Given the description of an element on the screen output the (x, y) to click on. 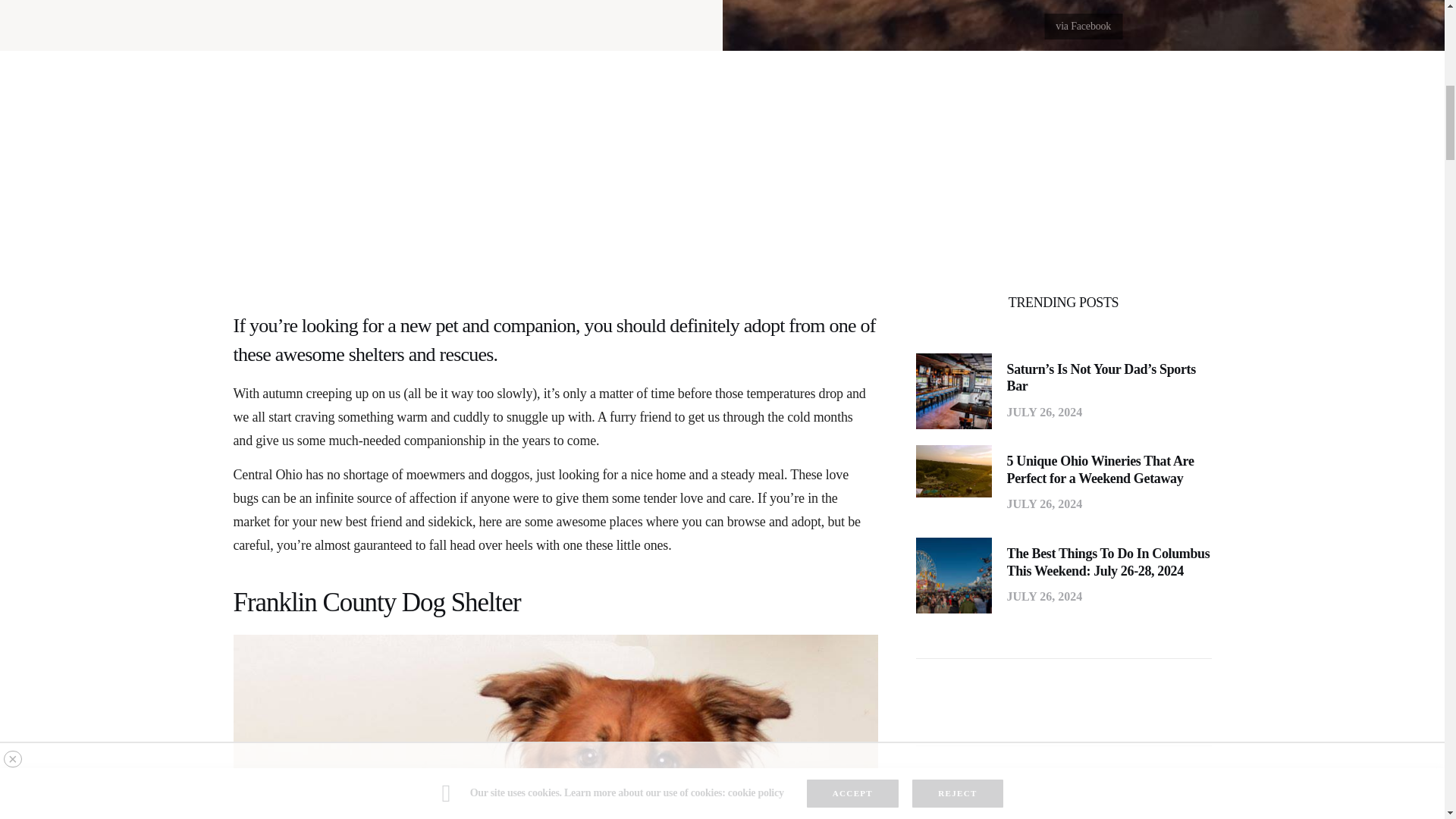
Franklin County Dog Shelter (554, 602)
